Given the description of an element on the screen output the (x, y) to click on. 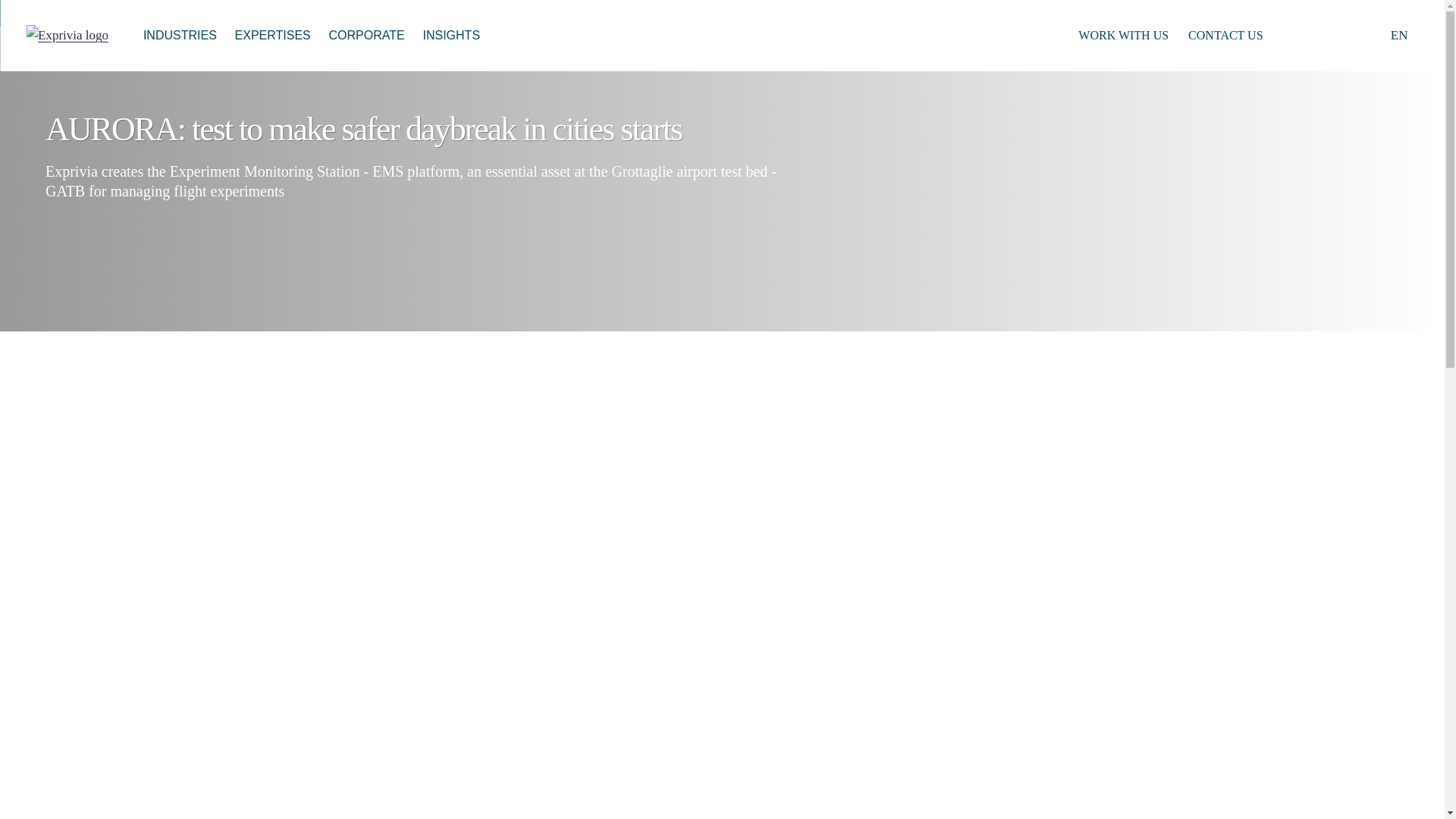
CORPORATE (366, 35)
INSIGHTS (451, 35)
INDUSTRIES (179, 35)
EXPERTISES (272, 35)
